Given the description of an element on the screen output the (x, y) to click on. 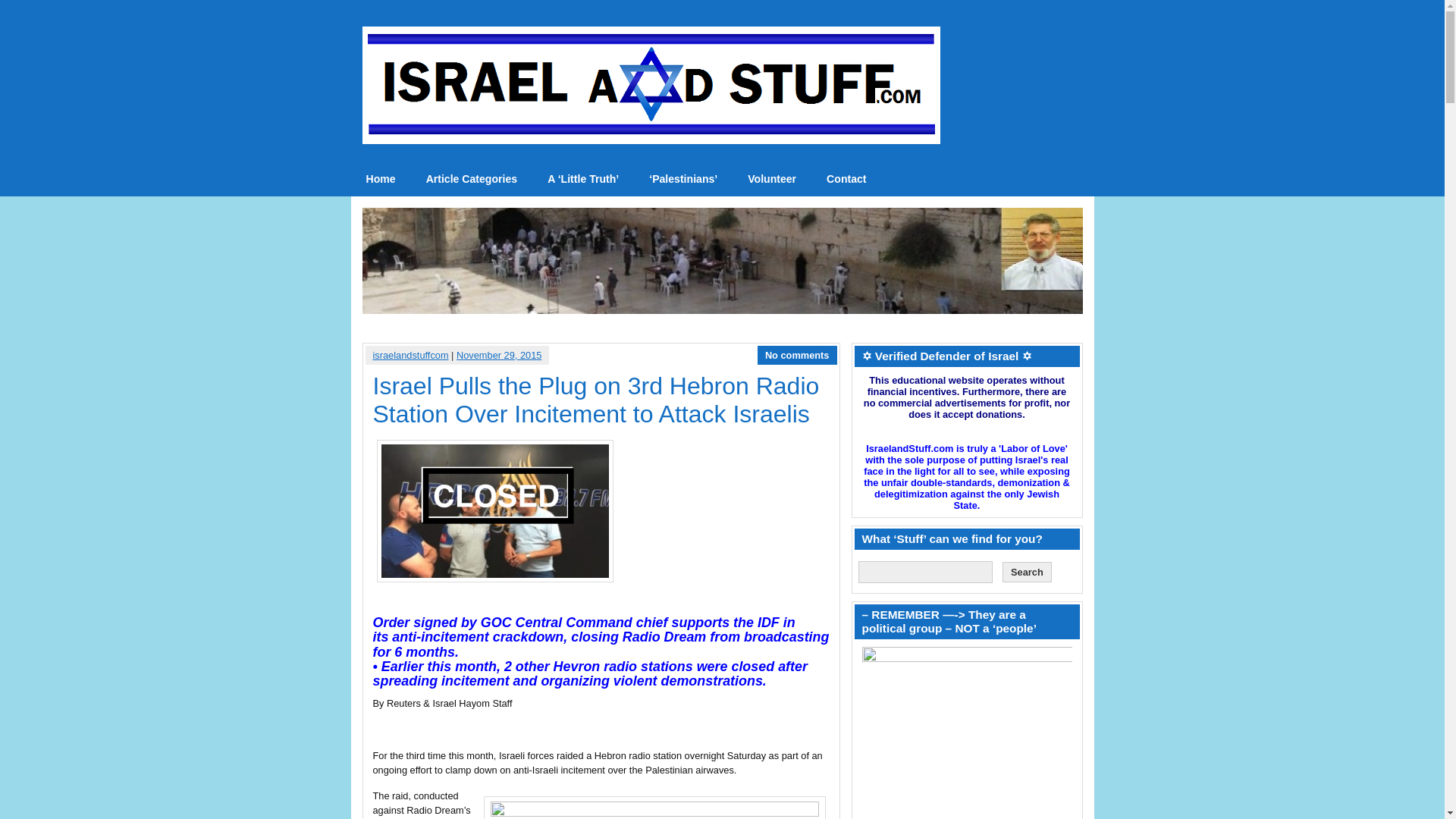
Search (1027, 571)
Article Categories (471, 178)
No comments (797, 355)
Contact (845, 178)
November 29, 2015 (499, 355)
Volunteer (771, 178)
Home (380, 178)
Posts by israelandstuffcom (410, 355)
israelandstuffcom (410, 355)
news (380, 178)
